Given the description of an element on the screen output the (x, y) to click on. 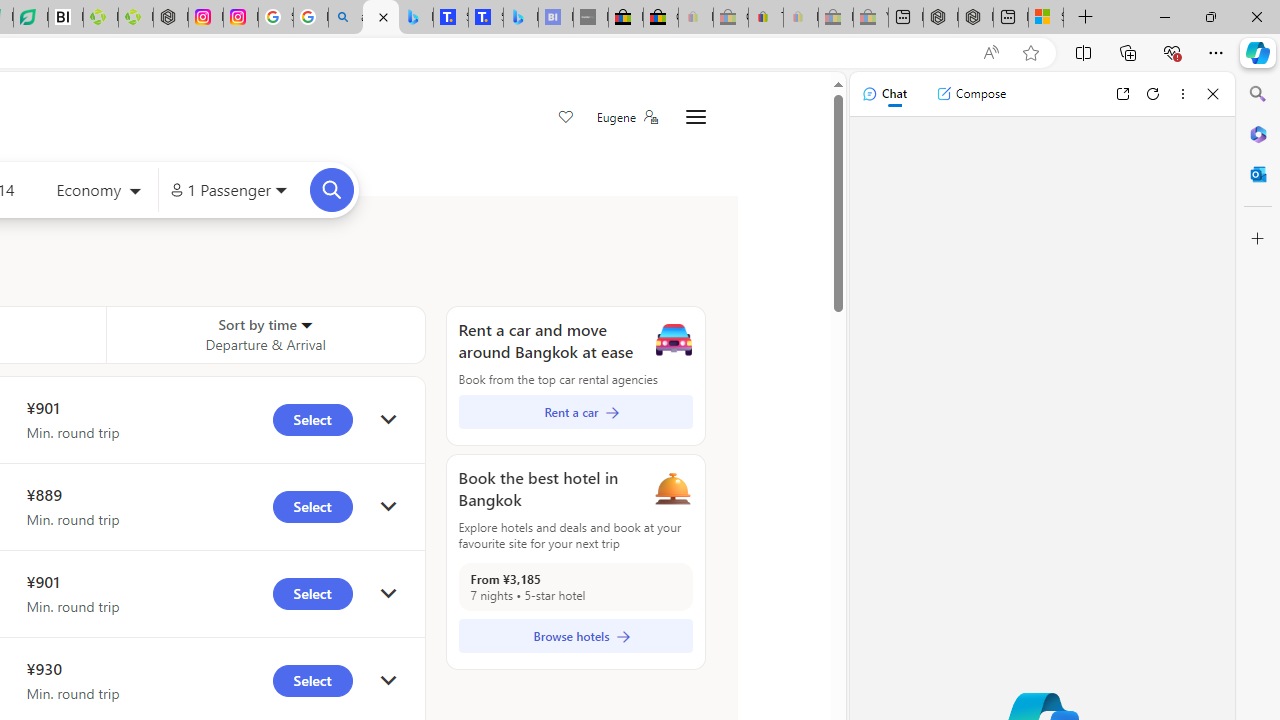
Nordace - Nordace Edin Collection (170, 17)
Safety in Our Products - Google Safety Center (275, 17)
Yard, Garden & Outdoor Living - Sleeping (870, 17)
Threats and offensive language policy | eBay (765, 17)
Sorter (306, 324)
Nvidia va a poner a prueba la paciencia de los inversores (65, 17)
